Given the description of an element on the screen output the (x, y) to click on. 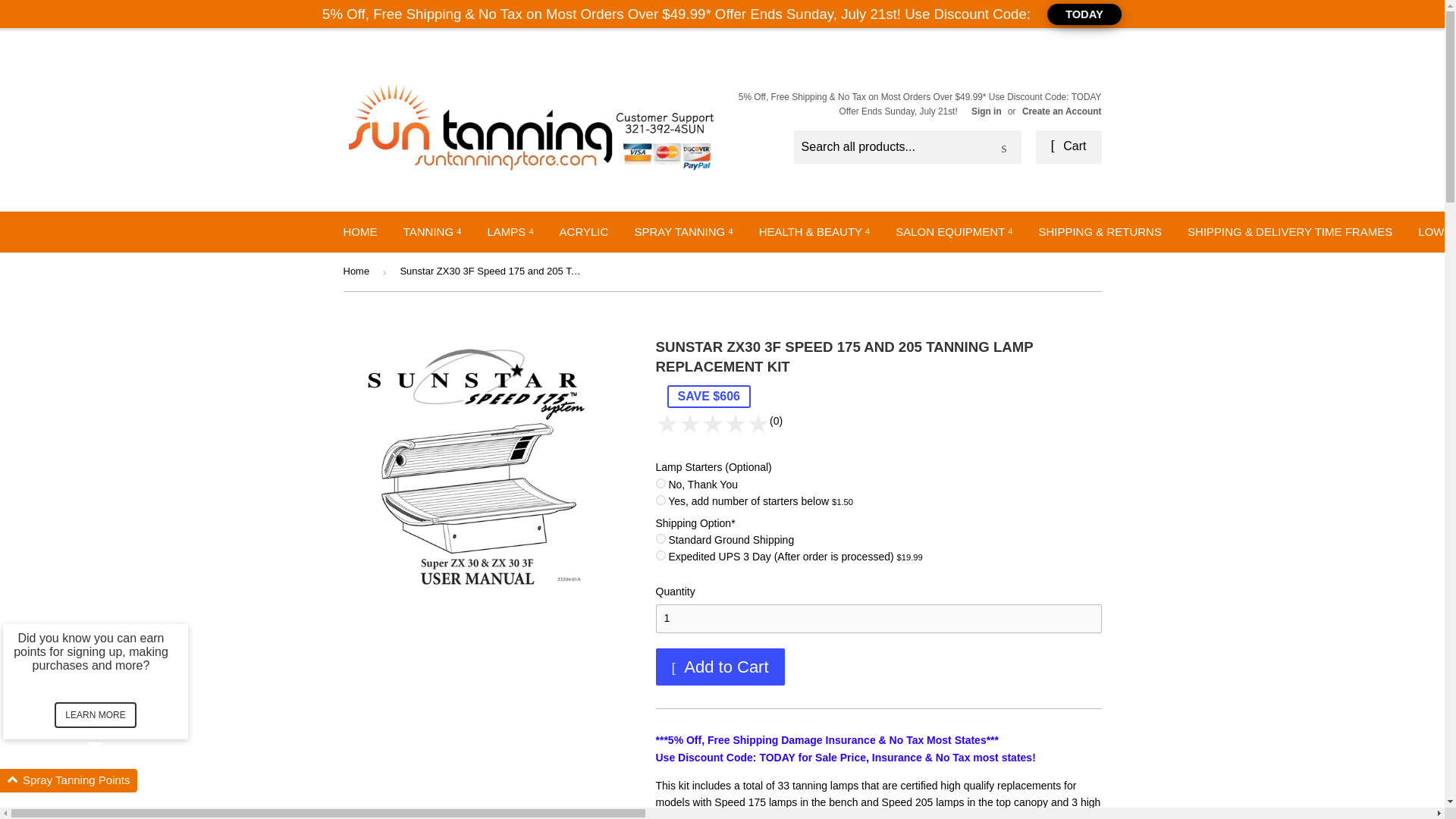
TANNING (432, 231)
Yes, add number of starters below (660, 500)
No, Thank You (660, 483)
HOME (359, 231)
1 (877, 618)
Create an Account (1062, 111)
Sign in (986, 111)
Standard Ground Shipping (660, 538)
LAMPS (510, 231)
Cart (1068, 146)
Search (1004, 147)
